Given the description of an element on the screen output the (x, y) to click on. 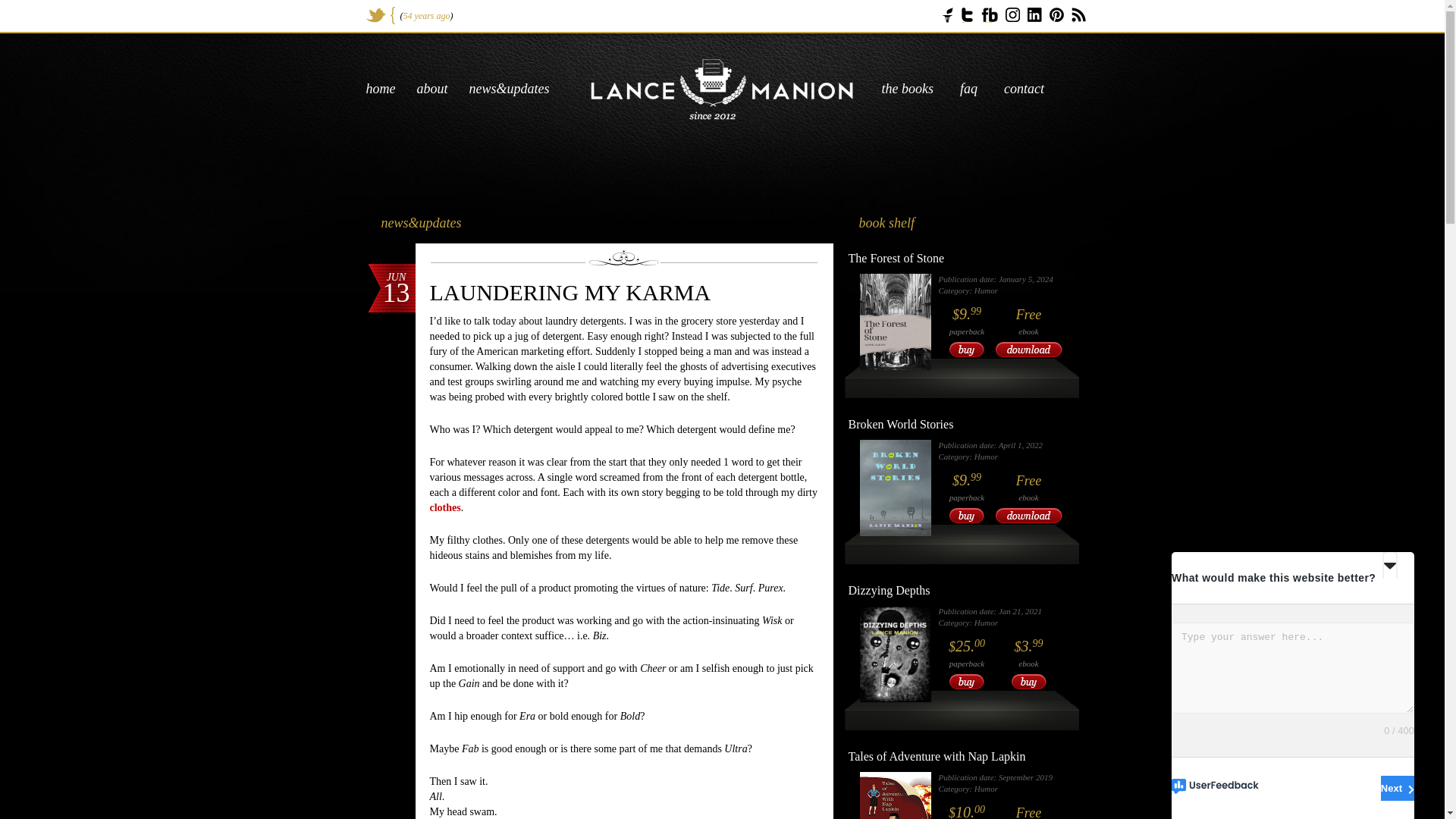
Facebook (989, 14)
LinkedIn (1033, 14)
the books (906, 88)
Lance Manion (722, 89)
Pinterest (1056, 14)
about (432, 88)
Rss (1078, 14)
clothes (444, 507)
faq (967, 88)
home (379, 88)
contact (1023, 88)
Instagram (1013, 14)
